Given the description of an element on the screen output the (x, y) to click on. 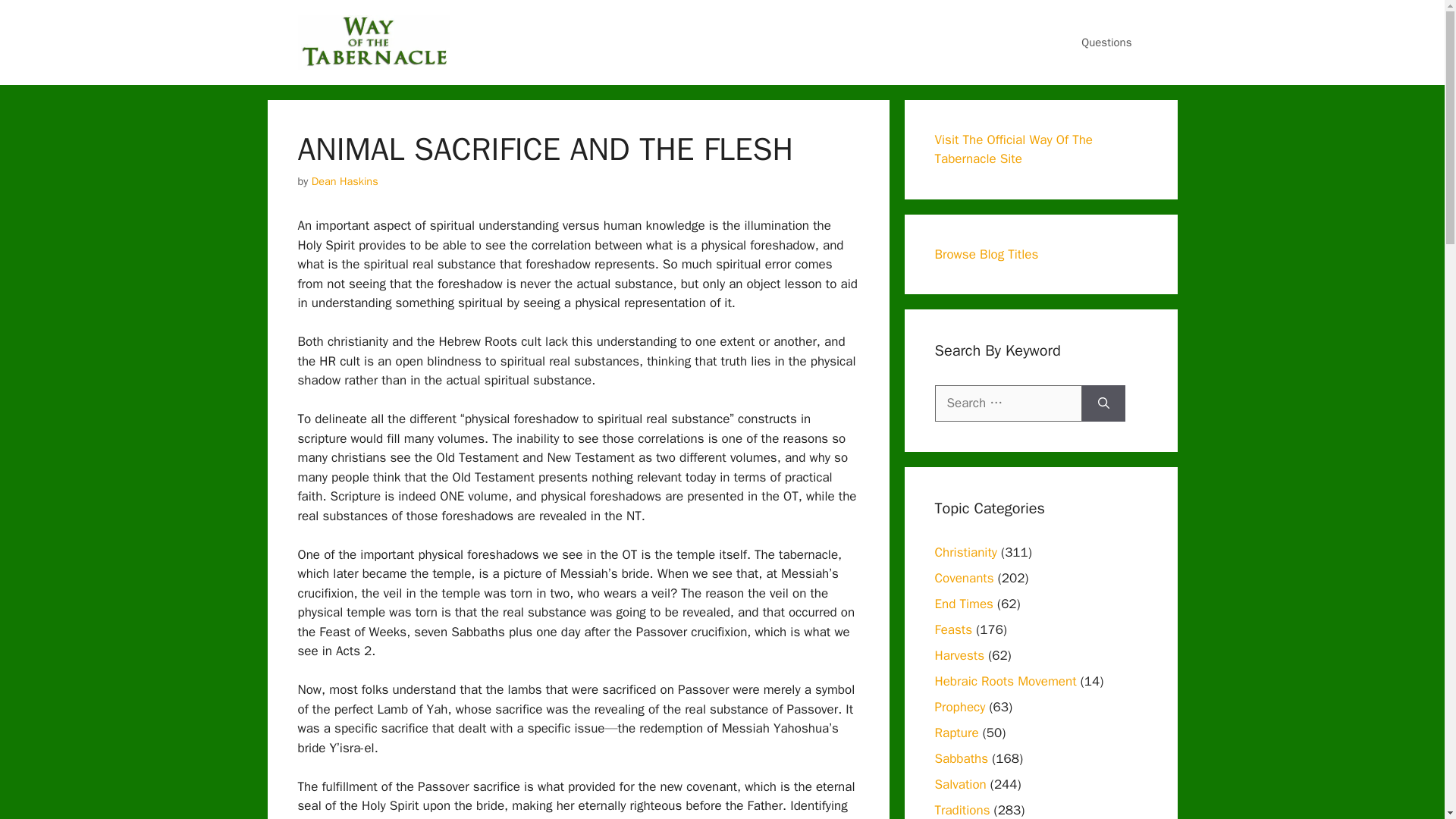
Christianity (964, 552)
Hebraic Roots Movement (1004, 681)
Dean Haskins (344, 181)
End Times (963, 603)
Visit The Official Way Of The Tabernacle Site (1013, 149)
Harvests (959, 655)
Browse Blog Titles (986, 254)
Feasts (953, 629)
Covenants (963, 578)
Sabbaths (961, 758)
